Given the description of an element on the screen output the (x, y) to click on. 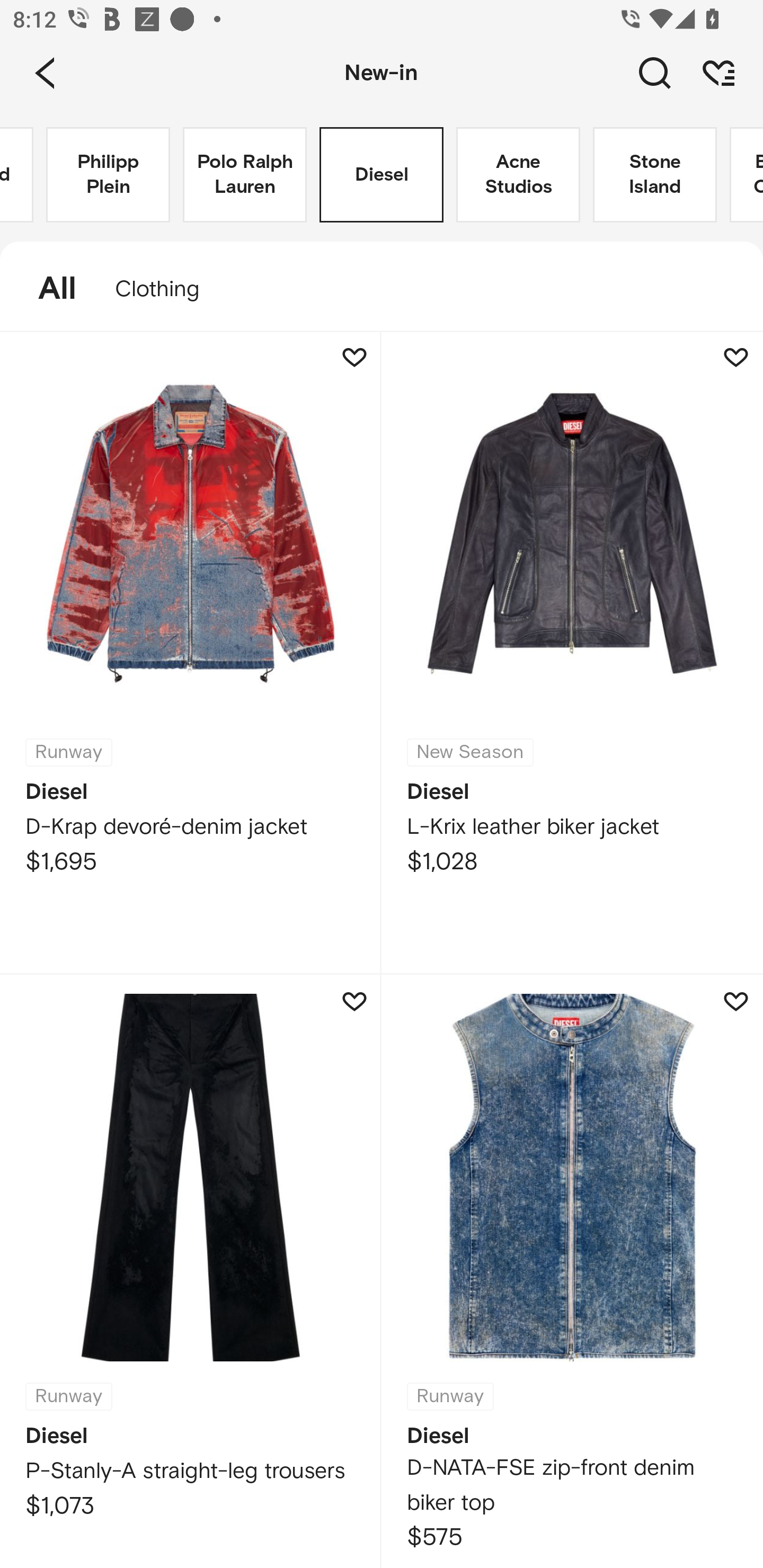
Philipp Plein (107, 174)
Polo Ralph Lauren (244, 174)
Diesel (381, 174)
Acne Studios (517, 174)
Stone Island (654, 174)
All (47, 288)
Clothing (166, 288)
Runway Diesel D-Krap devoré-denim jacket $1,695 (190, 652)
